Given the description of an element on the screen output the (x, y) to click on. 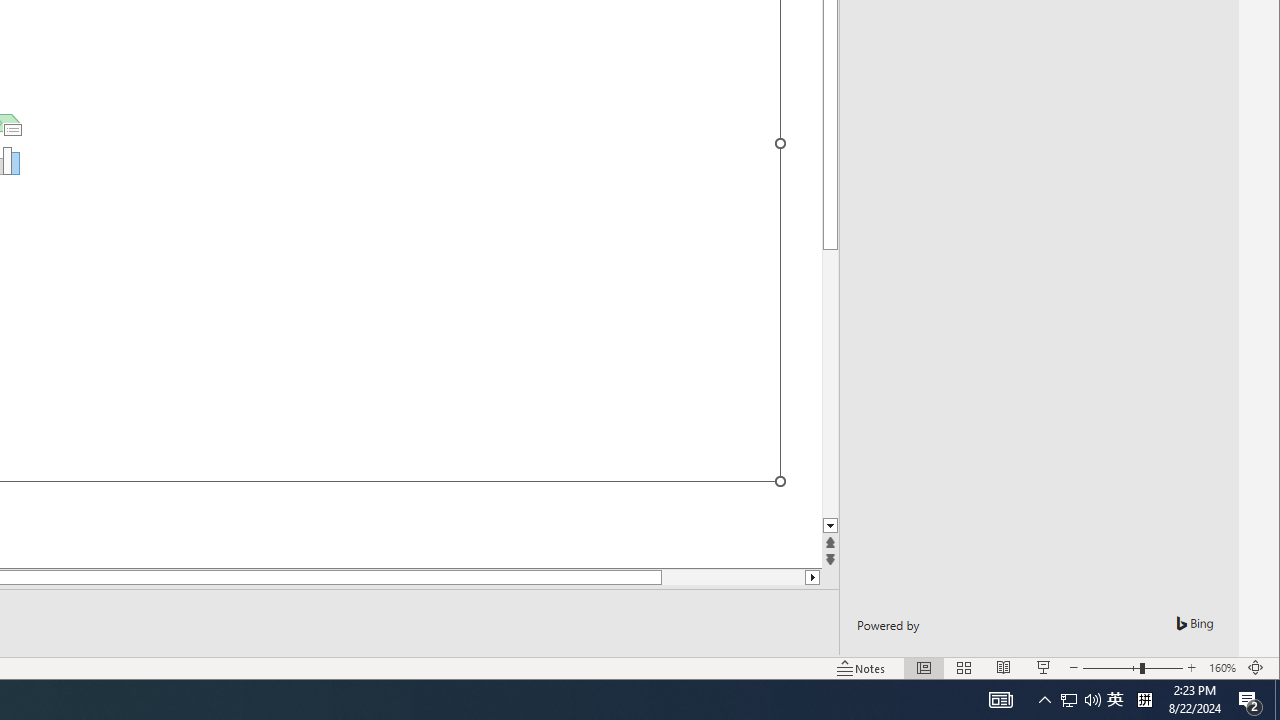
Action Center, 2 new notifications (1250, 699)
